Given the description of an element on the screen output the (x, y) to click on. 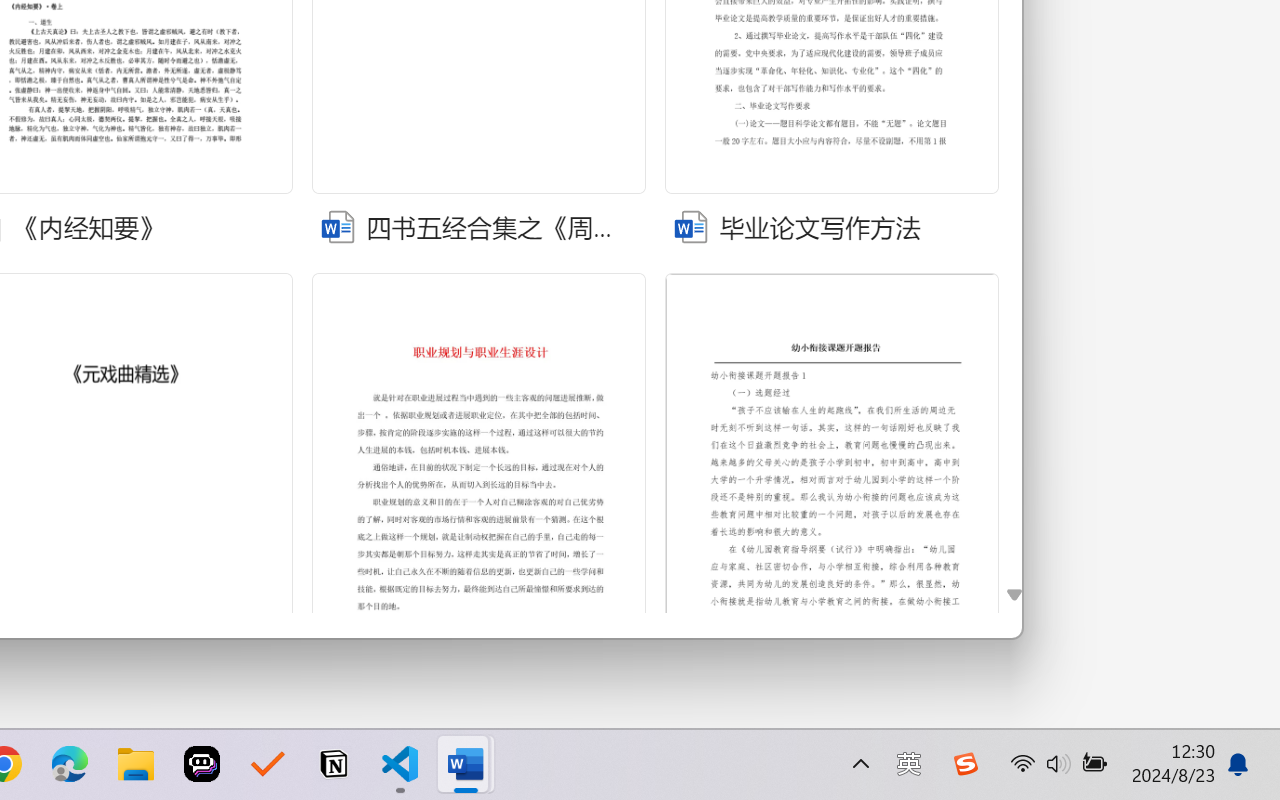
Microsoft Edge (69, 764)
